Given the description of an element on the screen output the (x, y) to click on. 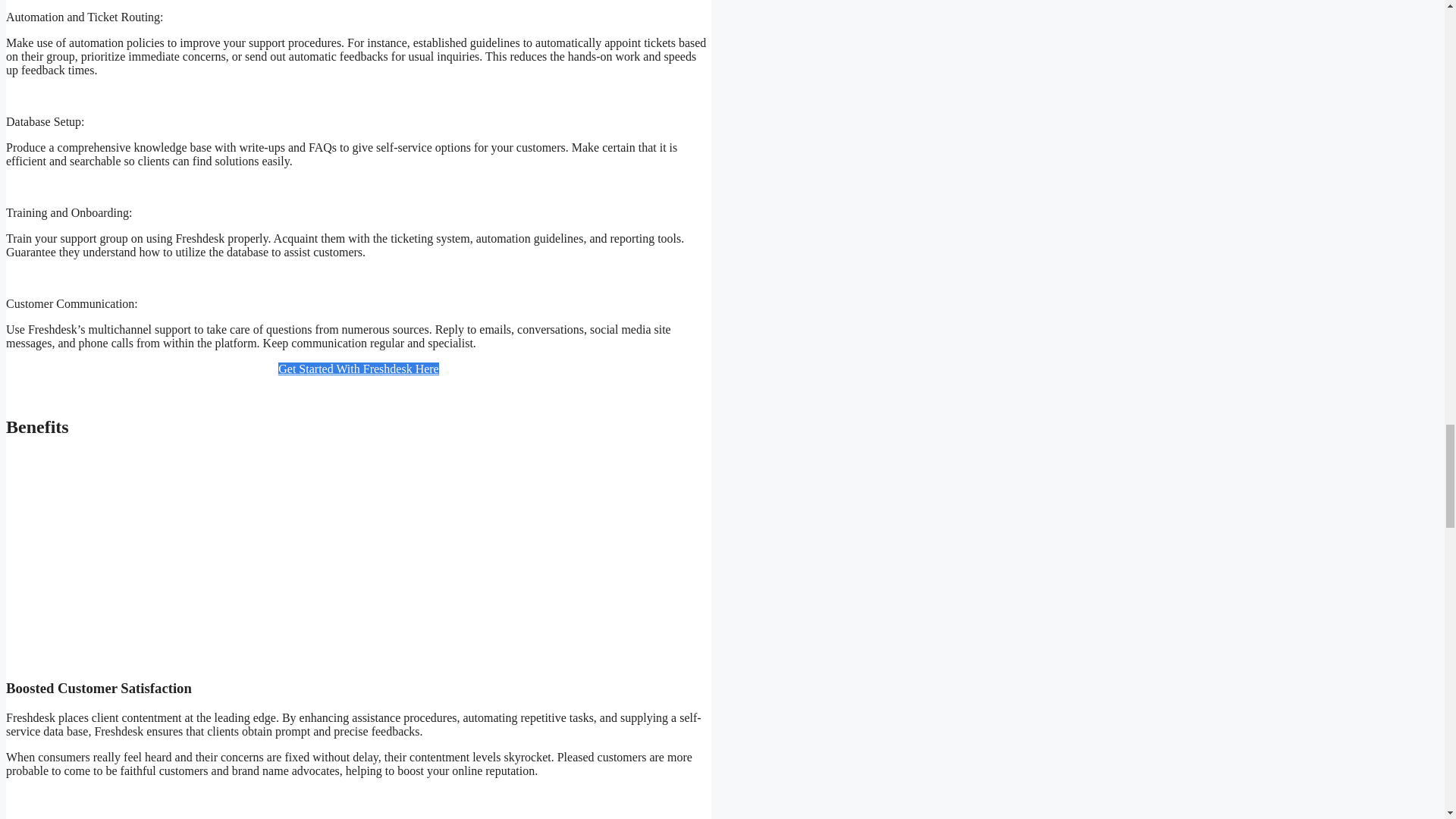
Get Started With Freshdesk Here (358, 368)
